Given the description of an element on the screen output the (x, y) to click on. 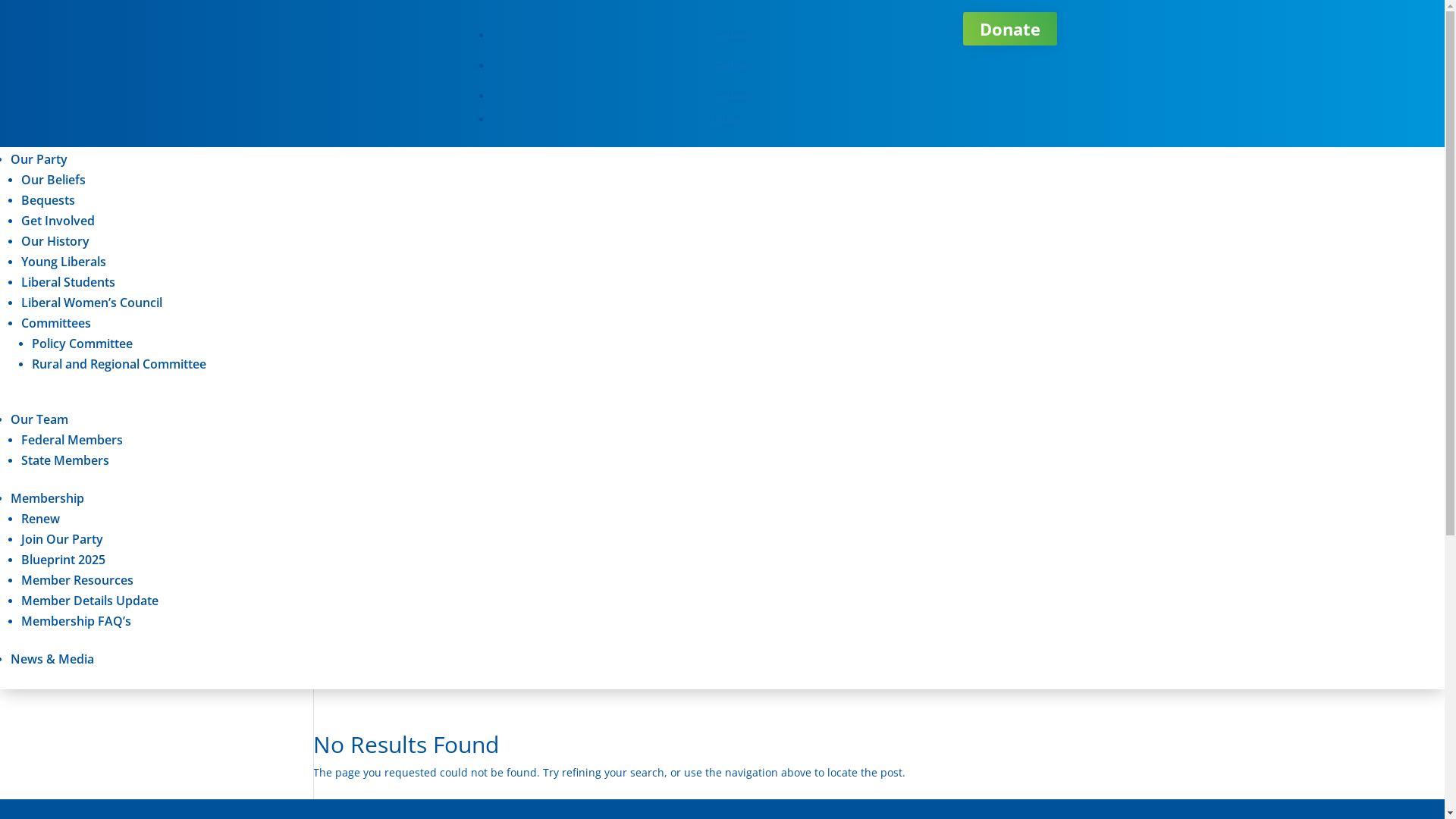
Policy Committee Element type: text (81, 343)
Follow Element type: text (726, 35)
Member Details Update Element type: text (89, 600)
Federal Members Element type: text (71, 439)
Follow Element type: text (726, 65)
Our Party Element type: text (38, 158)
Young Liberals Element type: text (63, 261)
Follow Element type: text (726, 95)
Our History Element type: text (55, 240)
Rural and Regional Committee Element type: text (118, 363)
Donate Element type: text (1010, 28)
News & Media Element type: text (52, 658)
Our Beliefs Element type: text (53, 179)
Blueprint 2025 Element type: text (63, 559)
Committees Element type: text (56, 322)
Join Our Party Element type: text (62, 538)
Member Resources Element type: text (77, 579)
Our Team Element type: text (39, 419)
Get Involved Element type: text (57, 220)
Membership Element type: text (47, 497)
Renew Element type: text (40, 518)
State Members Element type: text (65, 459)
Follow Element type: text (727, 119)
Liberal Students Element type: text (68, 281)
Bequests Element type: text (48, 199)
